Given the description of an element on the screen output the (x, y) to click on. 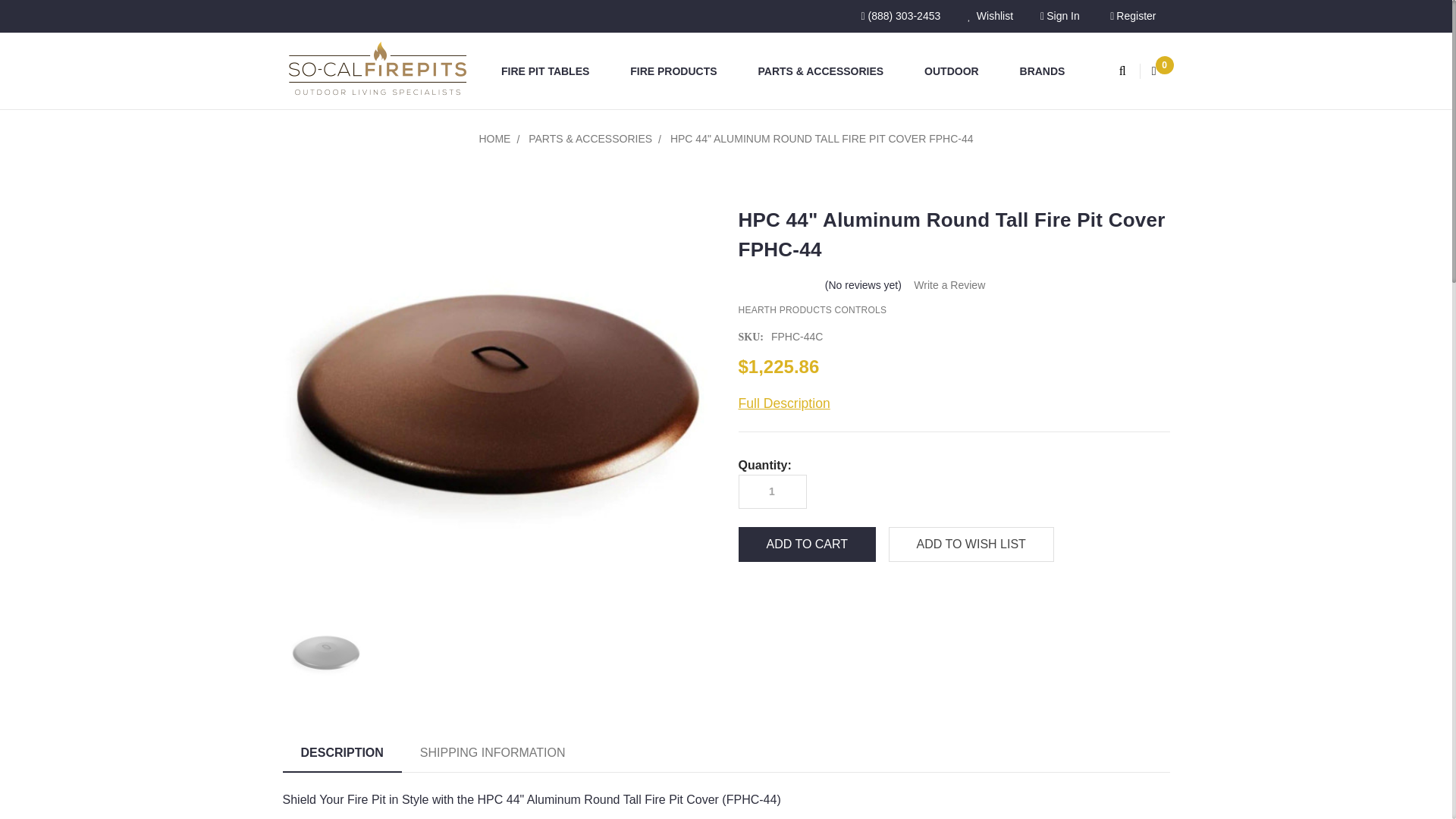
Add to Cart (807, 544)
Wishlist (989, 16)
1 (771, 491)
HPC 44" Aluminum Round Tall Fire Pit Cover FPHC-44 (325, 653)
Register (1132, 16)
Sign In (1059, 16)
Add to Wish list (971, 544)
Wishlist (989, 16)
FIRE PIT TABLES (551, 70)
FIRE PRODUCTS (679, 70)
SoCal Fire Pits (376, 70)
